Given the description of an element on the screen output the (x, y) to click on. 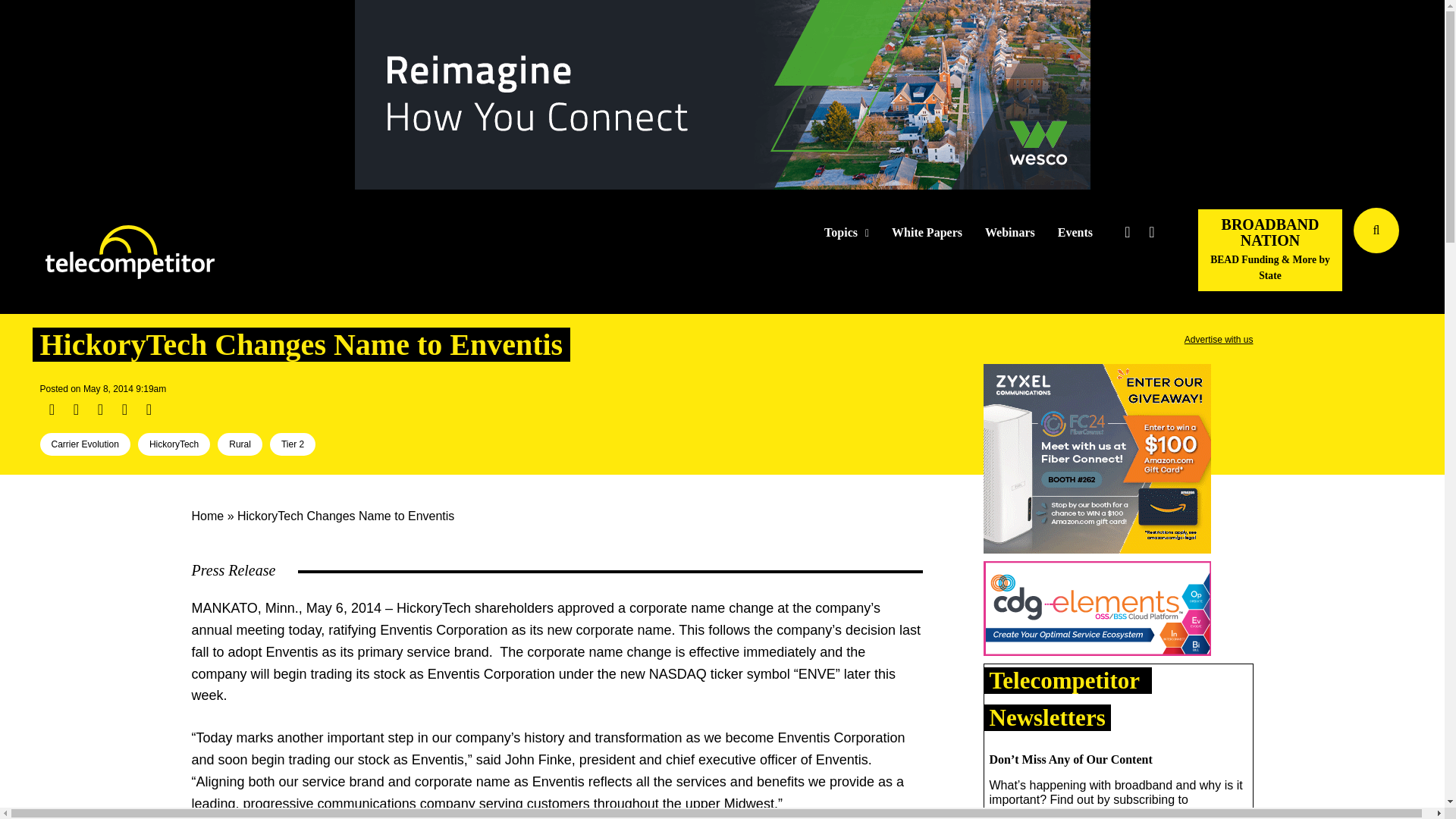
Follow Us on Twitter (1127, 232)
Pinterest (124, 409)
Topics (846, 232)
Search (1430, 253)
Events (1074, 232)
CDG elements (1095, 611)
Share on Facebook (51, 409)
Spread the word on Twitter (75, 409)
White Papers (927, 232)
Zyxel Communications (1095, 461)
Follow Us on LinkedIN (1151, 232)
Webinars (1010, 232)
Search telecompetitor.com (1376, 230)
Share on Linked In (99, 409)
